Given the description of an element on the screen output the (x, y) to click on. 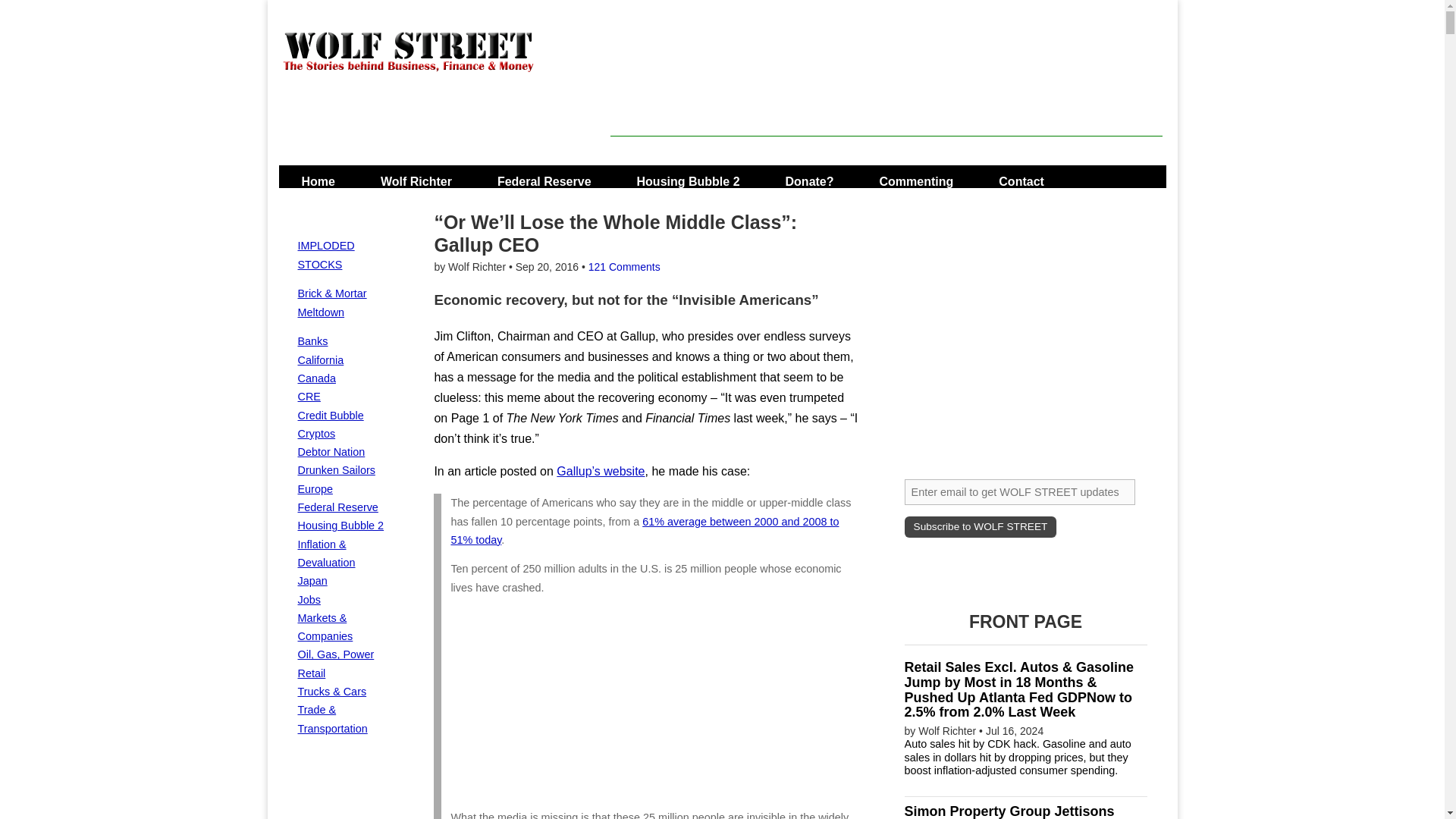
Commenting (916, 175)
Skip to content (322, 175)
Banks (312, 340)
IMPLODED STOCKS (325, 254)
Contact (1021, 175)
View all posts filed under Energy (335, 654)
121 Comments (624, 266)
View all posts filed under Consumer (335, 469)
Drunken Sailors (335, 469)
Subscribe to WOLF STREET (980, 526)
Debtor Nation (331, 451)
View all posts filed under Jobs (308, 599)
Wolf Richter (416, 175)
Federal Reserve (337, 507)
Credit Bubble (329, 415)
